Given the description of an element on the screen output the (x, y) to click on. 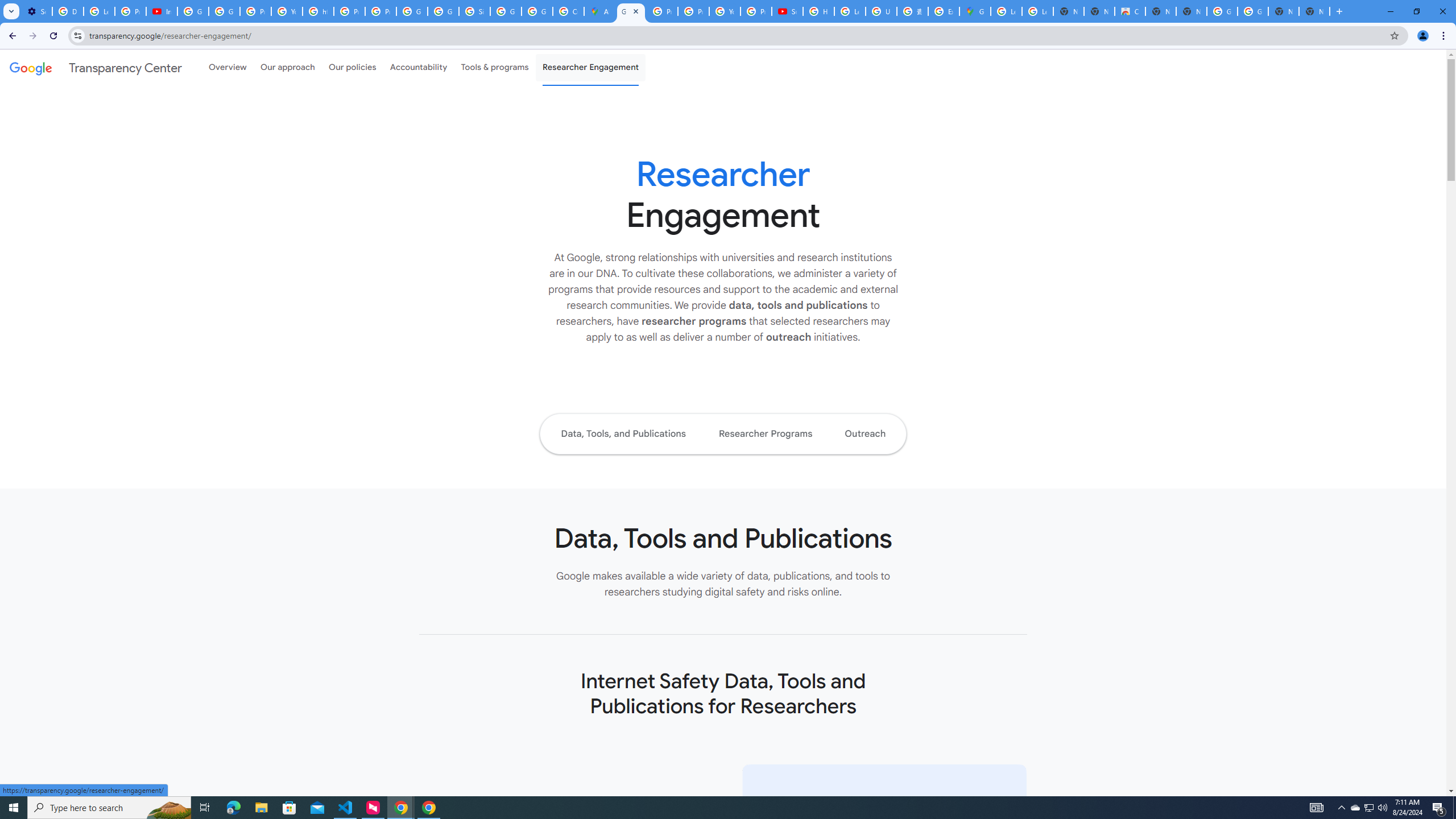
Google Images (1222, 11)
Privacy Help Center - Policies Help (349, 11)
Our policies (351, 67)
Google Images (1252, 11)
Explore new street-level details - Google Maps Help (943, 11)
